Given the description of an element on the screen output the (x, y) to click on. 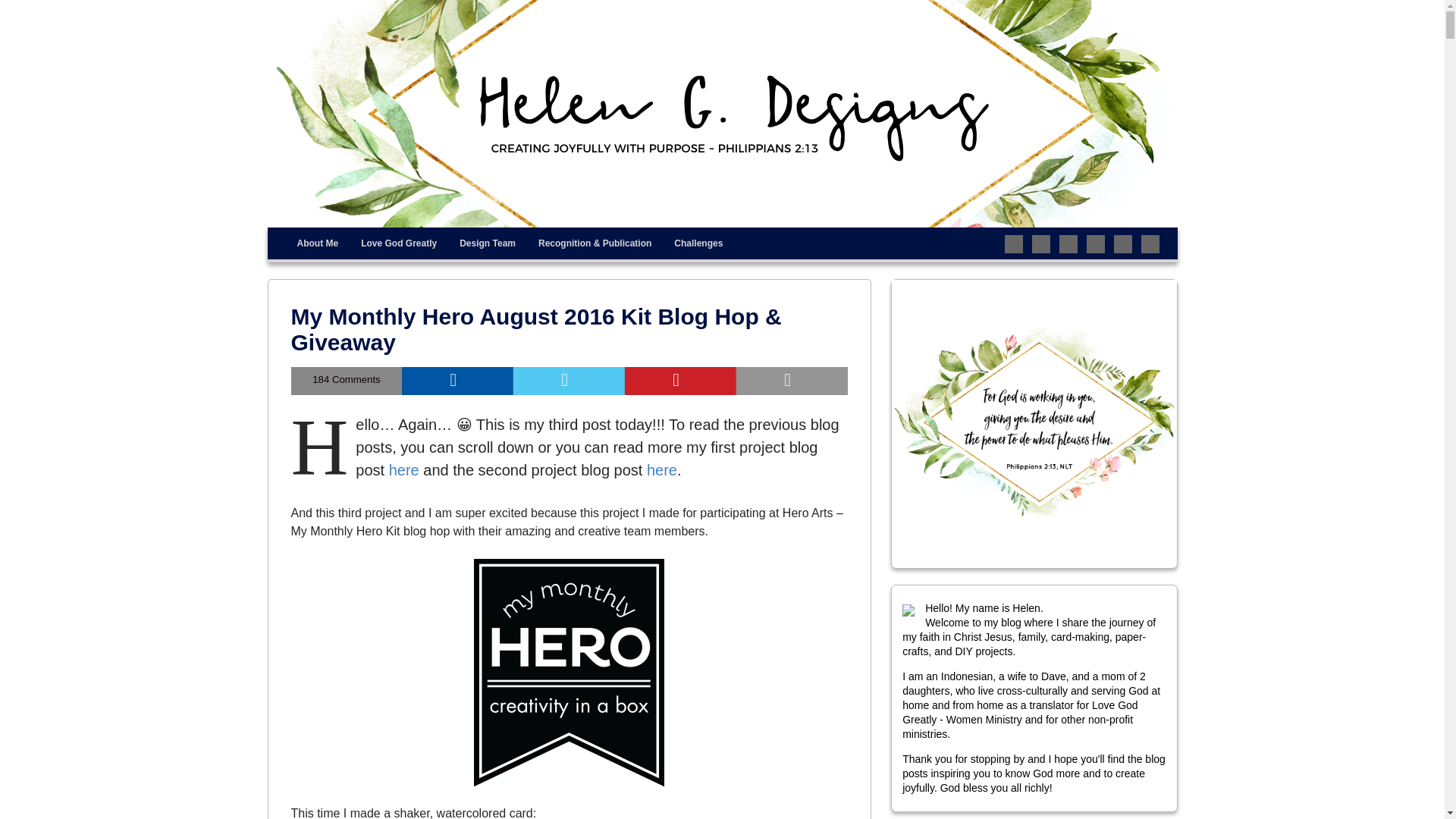
Skip to content (317, 237)
Love God Greatly (398, 243)
Share on Facebook (457, 380)
Follow me on Pinterest (1067, 244)
Helen G. Designs (365, 241)
Subscribe to my RSS Feed (1149, 244)
184 Comments (347, 380)
here (661, 469)
Challenges (697, 243)
